Given the description of an element on the screen output the (x, y) to click on. 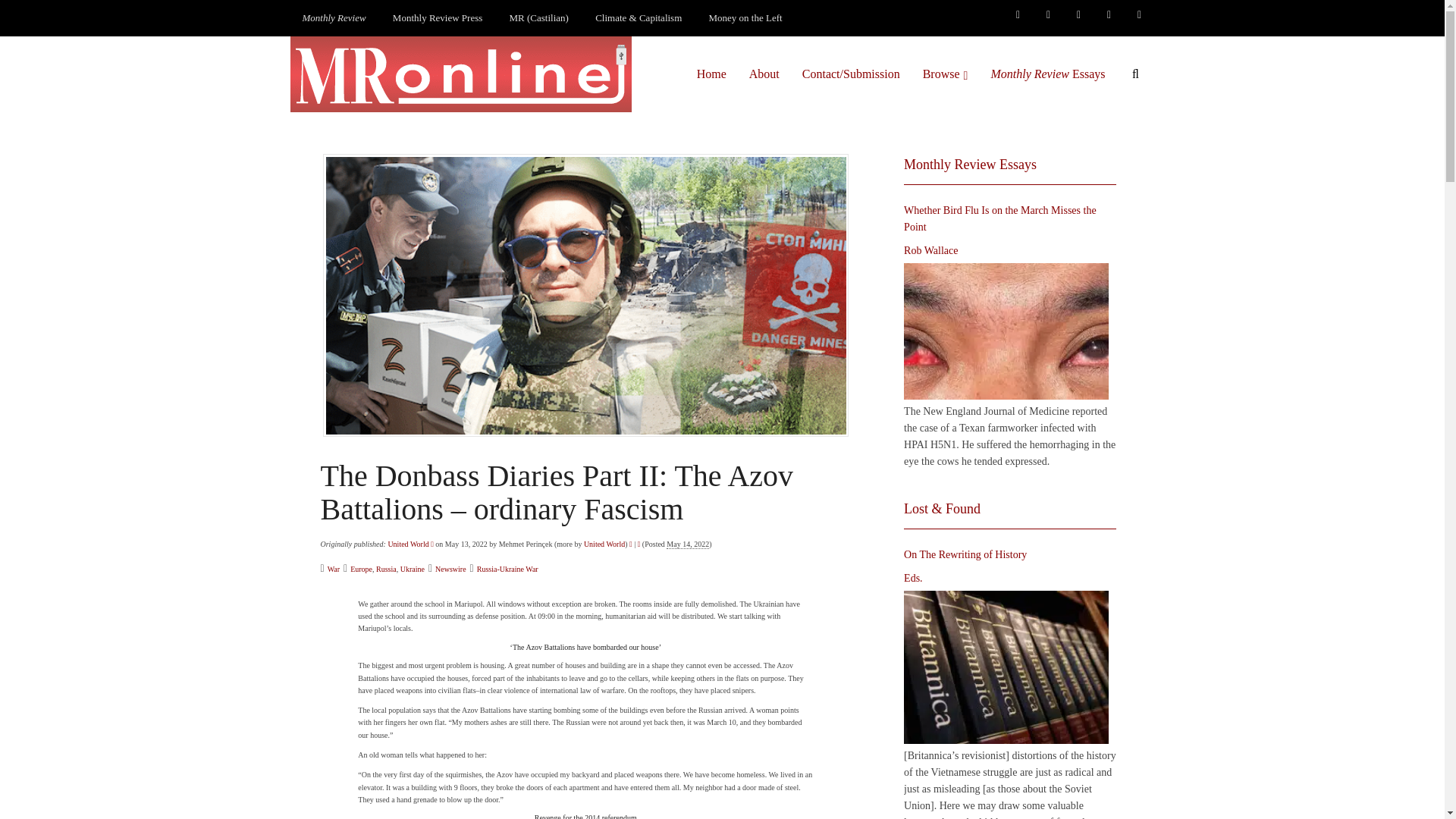
Monthly Review (333, 18)
Whether Bird Flu Is on the March Misses the Point (1006, 330)
Monthly Review Magazine (333, 18)
Monthly Review Press (437, 18)
Posts by Rob Wallace (931, 250)
Money on the Left (745, 18)
Browse (945, 74)
